Given the description of an element on the screen output the (x, y) to click on. 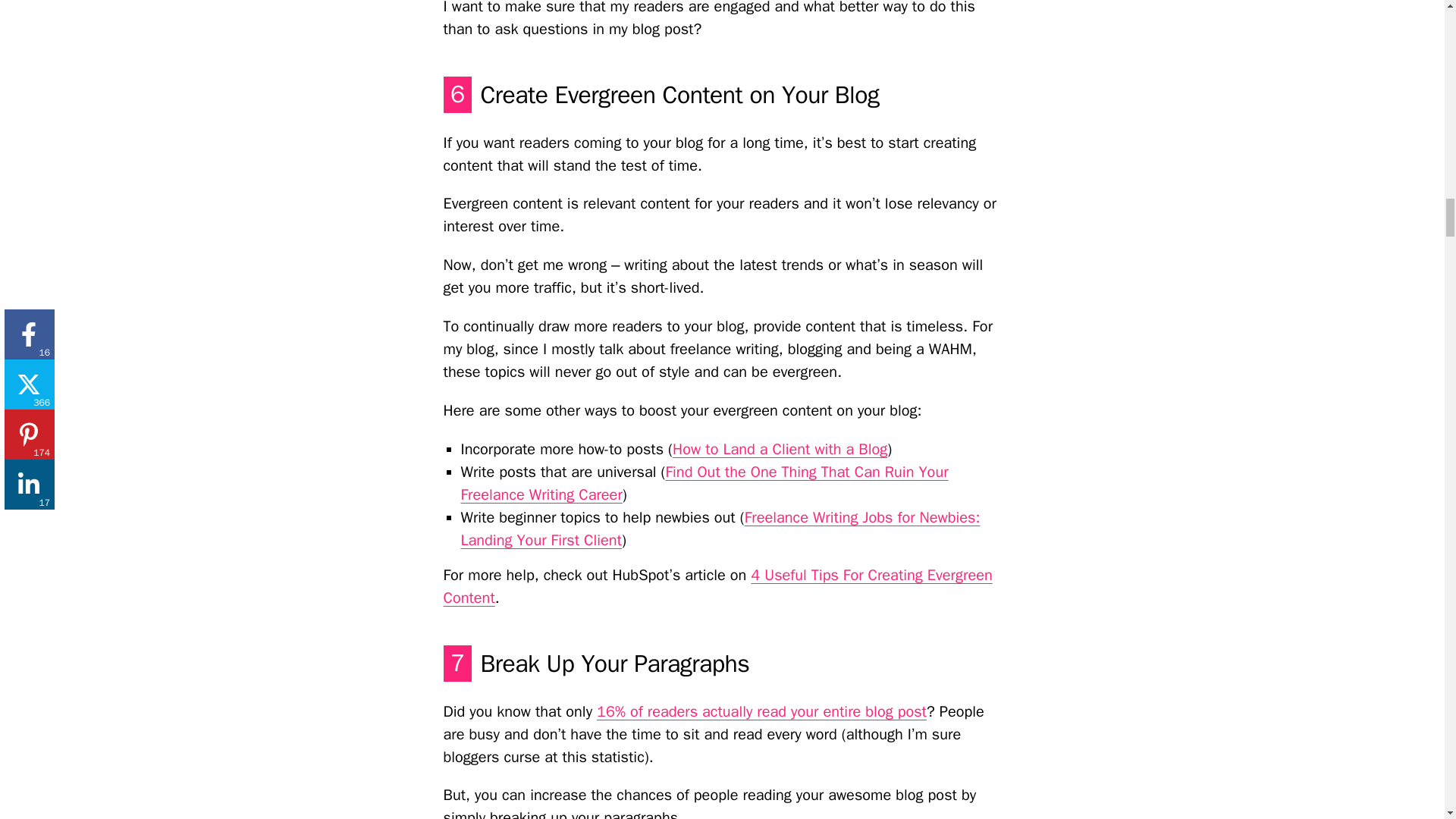
How to Land a Client with a Blog (779, 448)
4 Useful Tips For Creating Evergreen Content (716, 586)
How to Land a Client with Your Blog (779, 448)
